Given the description of an element on the screen output the (x, y) to click on. 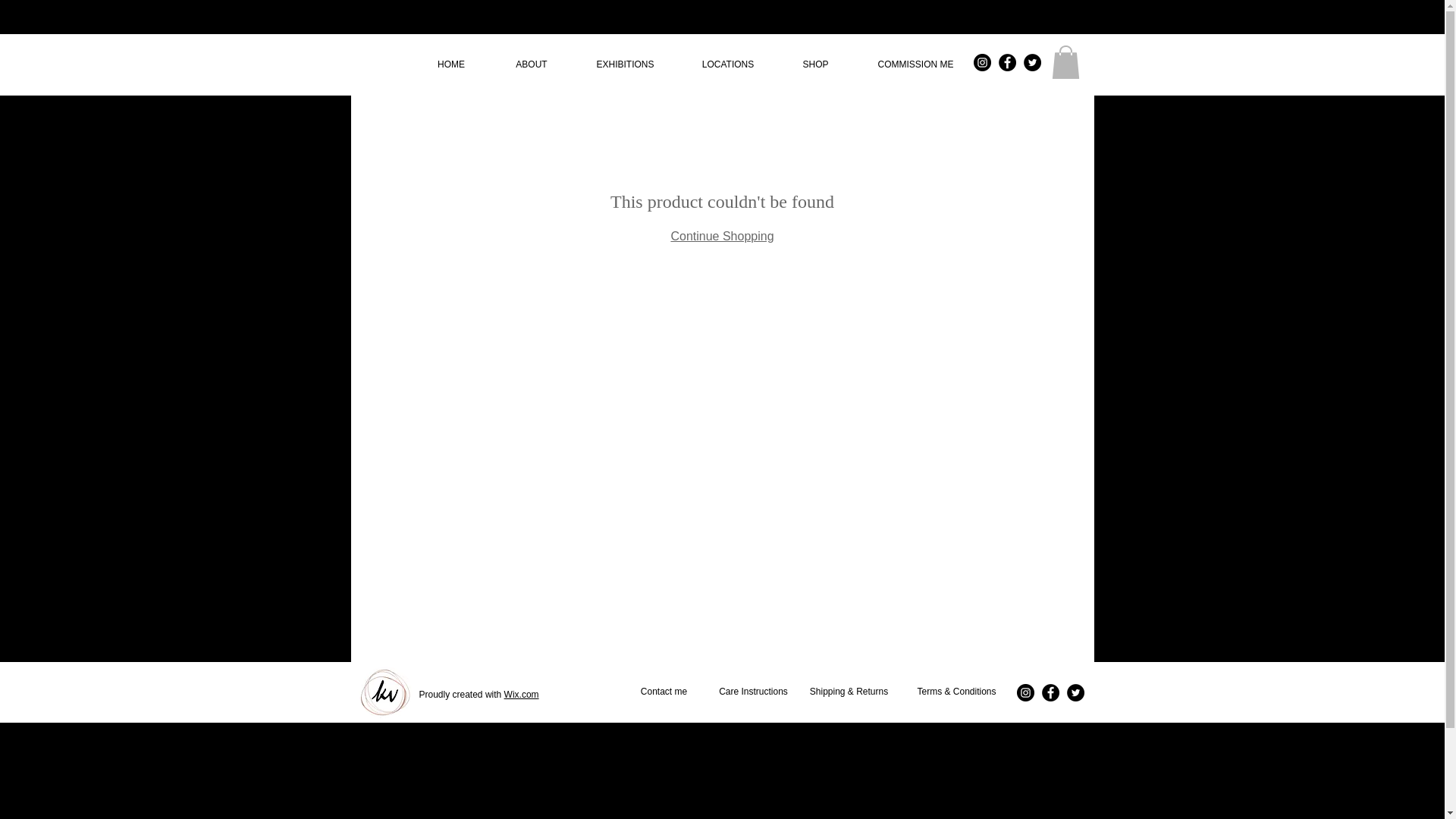
Wix.com (520, 694)
HOME (451, 64)
COMMISSION ME (915, 64)
ABOUT (532, 64)
Continue Shopping (721, 236)
Care Instructions (752, 692)
Contact me (663, 692)
EXHIBITIONS (625, 64)
LOCATIONS (727, 64)
SHOP (814, 64)
